Given the description of an element on the screen output the (x, y) to click on. 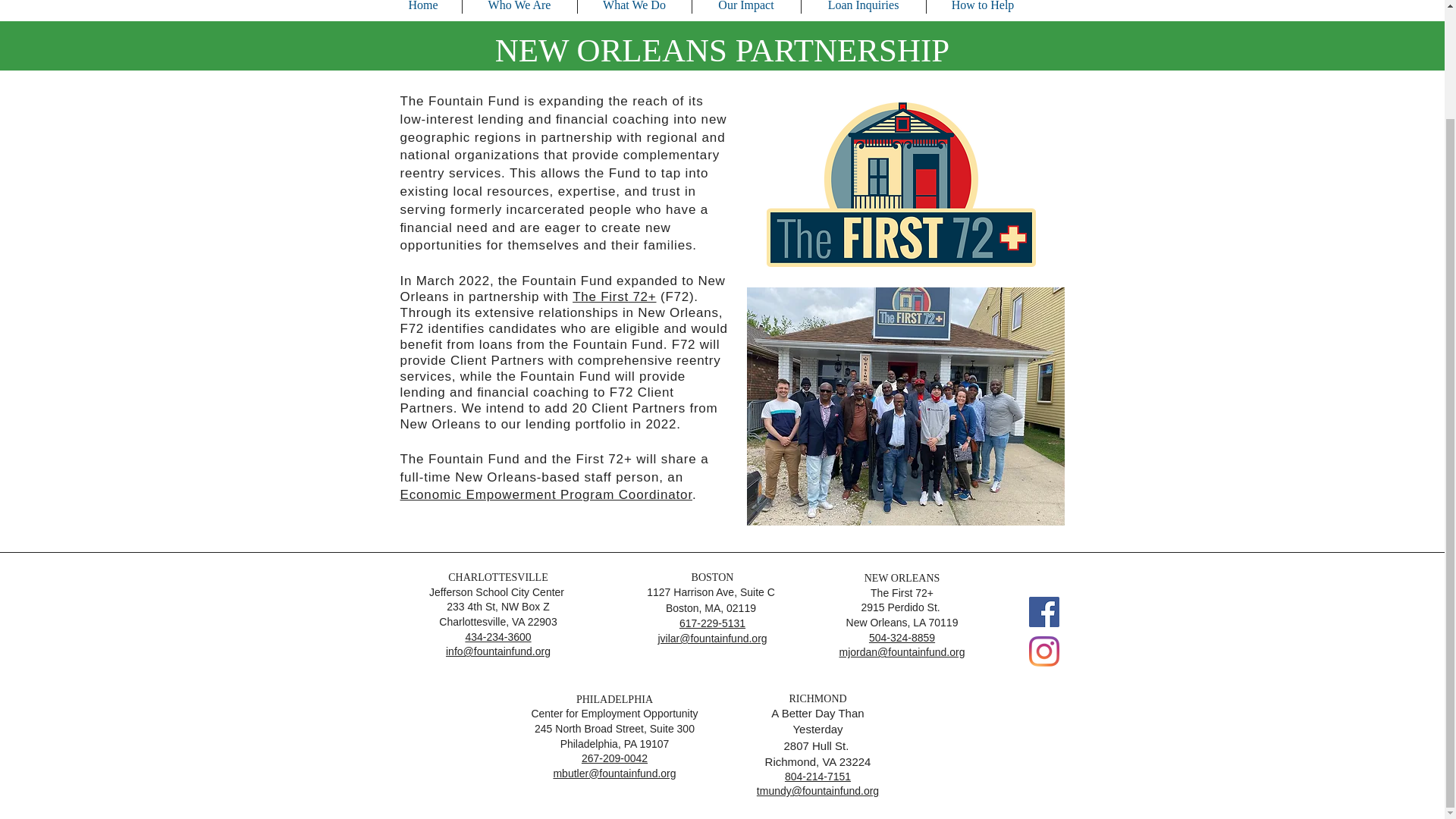
504-324-8859 (901, 637)
Economic Empowerment Program Coordinator (546, 494)
267-209-0042 (613, 758)
Who We Are (519, 6)
804-214-7151 (817, 775)
Home (423, 6)
Our Impact (745, 6)
Loan Inquiries (862, 6)
434-234-3600 (497, 636)
617-229-5131 (712, 623)
